Given the description of an element on the screen output the (x, y) to click on. 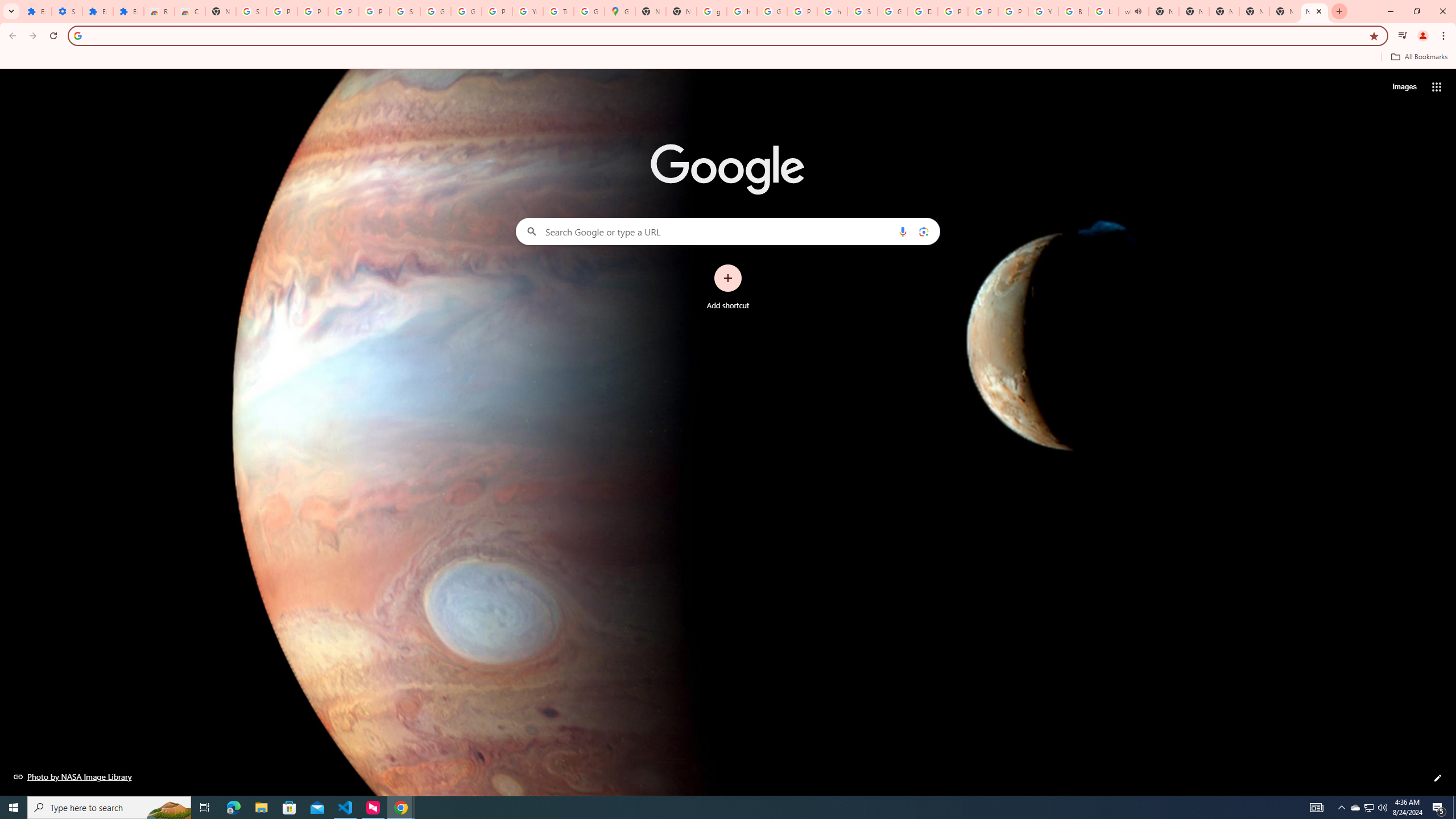
Sign in - Google Accounts (862, 11)
Sign in - Google Accounts (404, 11)
Mute tab (1138, 10)
Sign in - Google Accounts (251, 11)
Extensions (36, 11)
New Tab (220, 11)
Photo by NASA Image Library (72, 776)
Browse Chrome as a guest - Computer - Google Chrome Help (1072, 11)
